Given the description of an element on the screen output the (x, y) to click on. 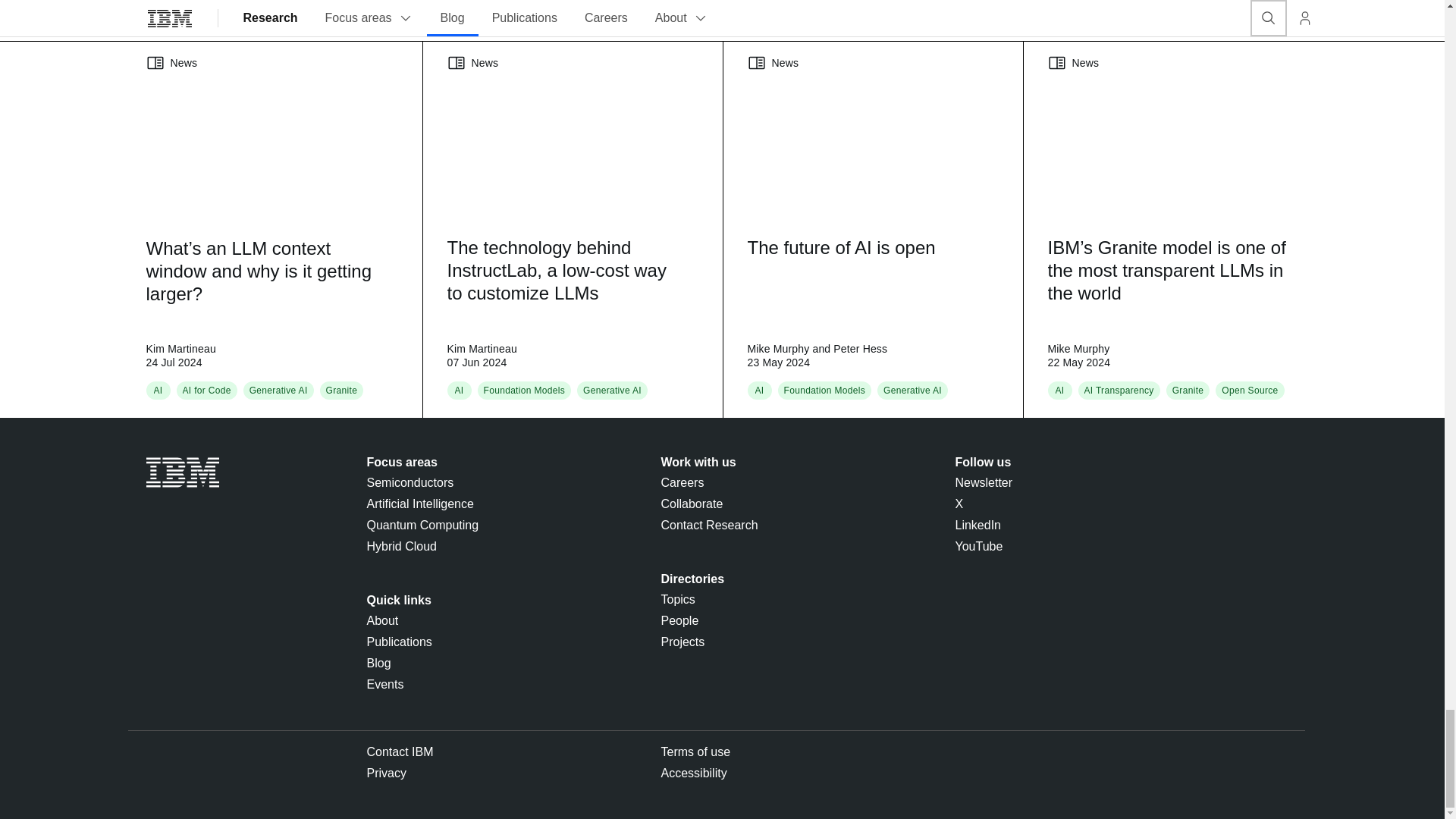
AI for Code (206, 390)
Foundation Models (825, 390)
IBM Logo (181, 472)
Generative AI (912, 390)
Granite (342, 390)
Generative AI (612, 390)
Generative AI (277, 390)
AI Transparency (1119, 390)
Foundation Models (524, 390)
